Given the description of an element on the screen output the (x, y) to click on. 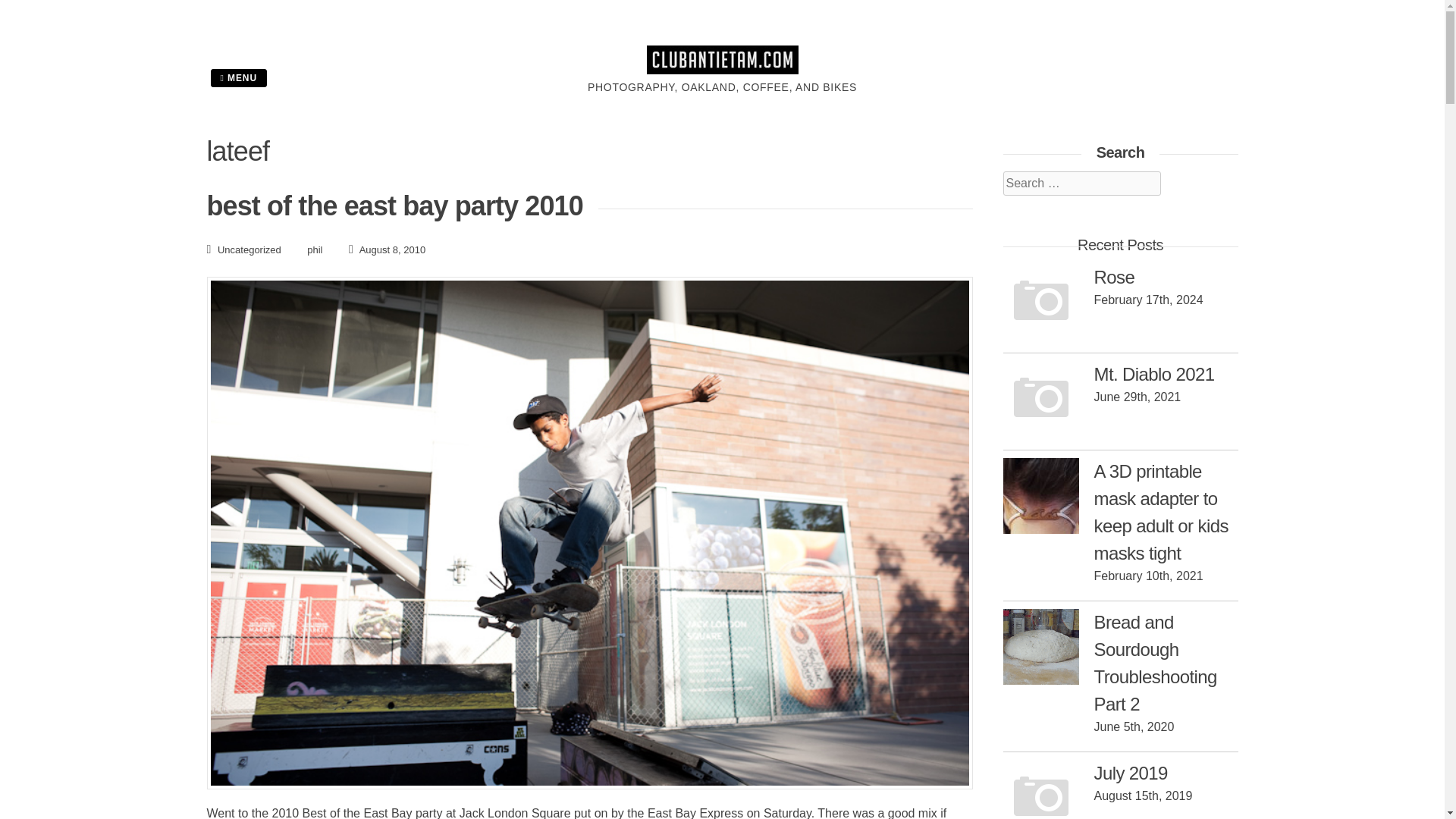
Rose (1113, 276)
MENU (238, 77)
2010 Best of the East Bay party (356, 812)
Bread and Sourdough Troubleshooting Part 2 (1154, 662)
Bread and Sourdough Troubleshooting Part 2 (1040, 649)
best of the east bay party 2010 (394, 205)
Mt. Diablo 2021 (1153, 373)
clubantietam.com (721, 69)
Rose (1040, 303)
Mt. Diablo 2021 (1153, 373)
July 2019 (1130, 772)
Uncategorized (248, 249)
Bread and Sourdough Troubleshooting Part 2 (1154, 662)
